Given the description of an element on the screen output the (x, y) to click on. 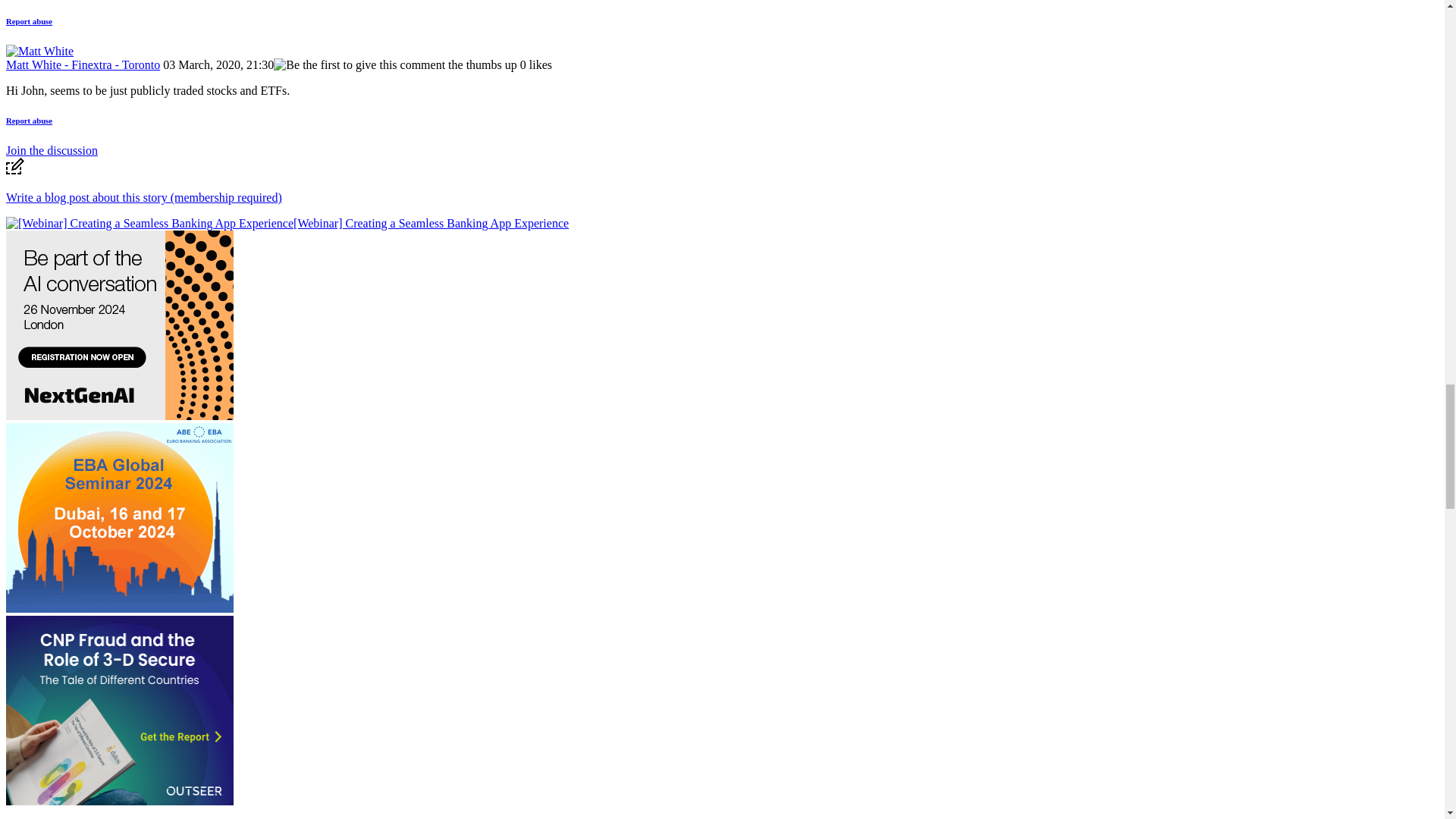
Be the first to give this comment the thumbs up (394, 65)
